Given the description of an element on the screen output the (x, y) to click on. 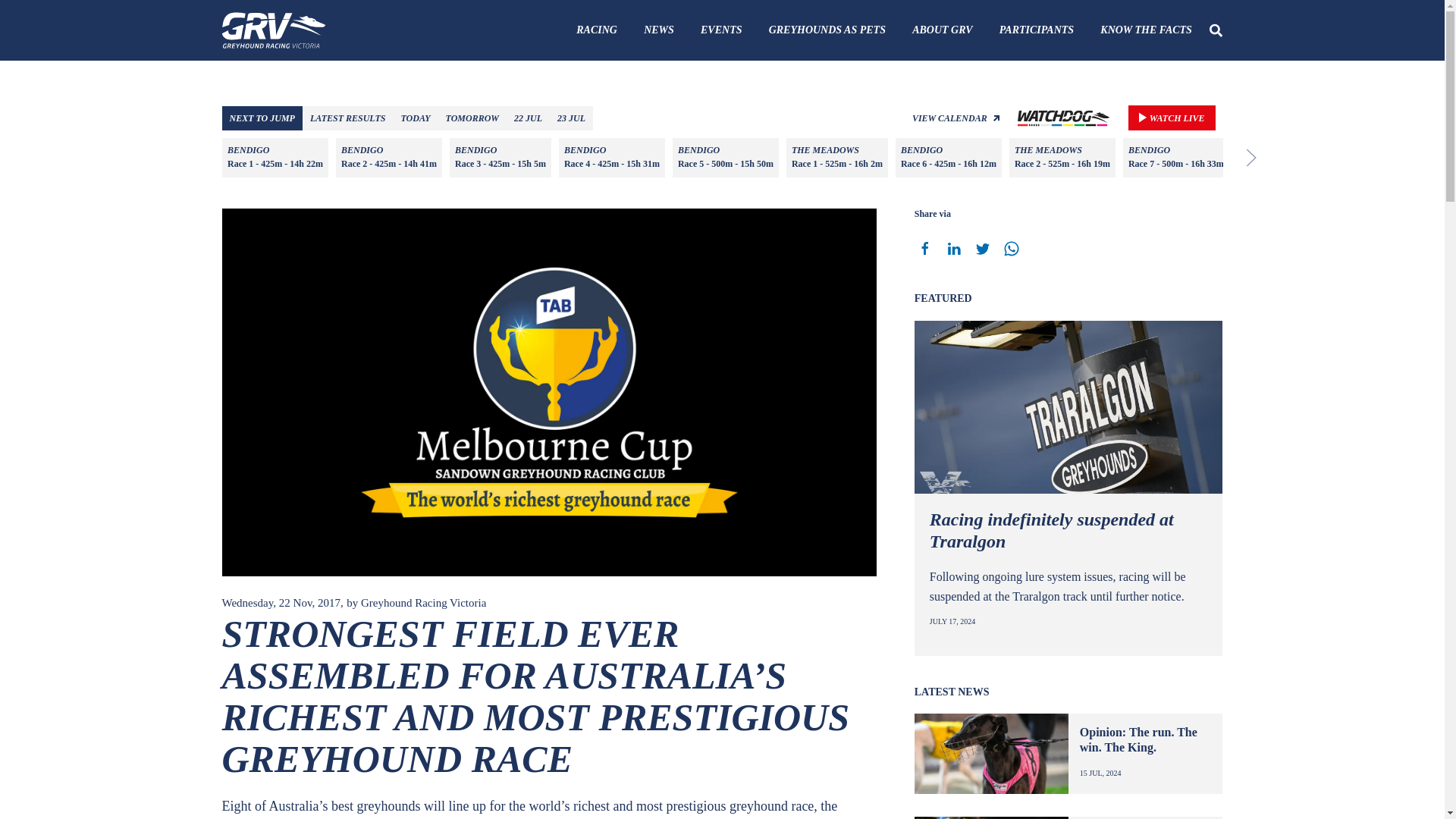
RACING (597, 30)
